Given the description of an element on the screen output the (x, y) to click on. 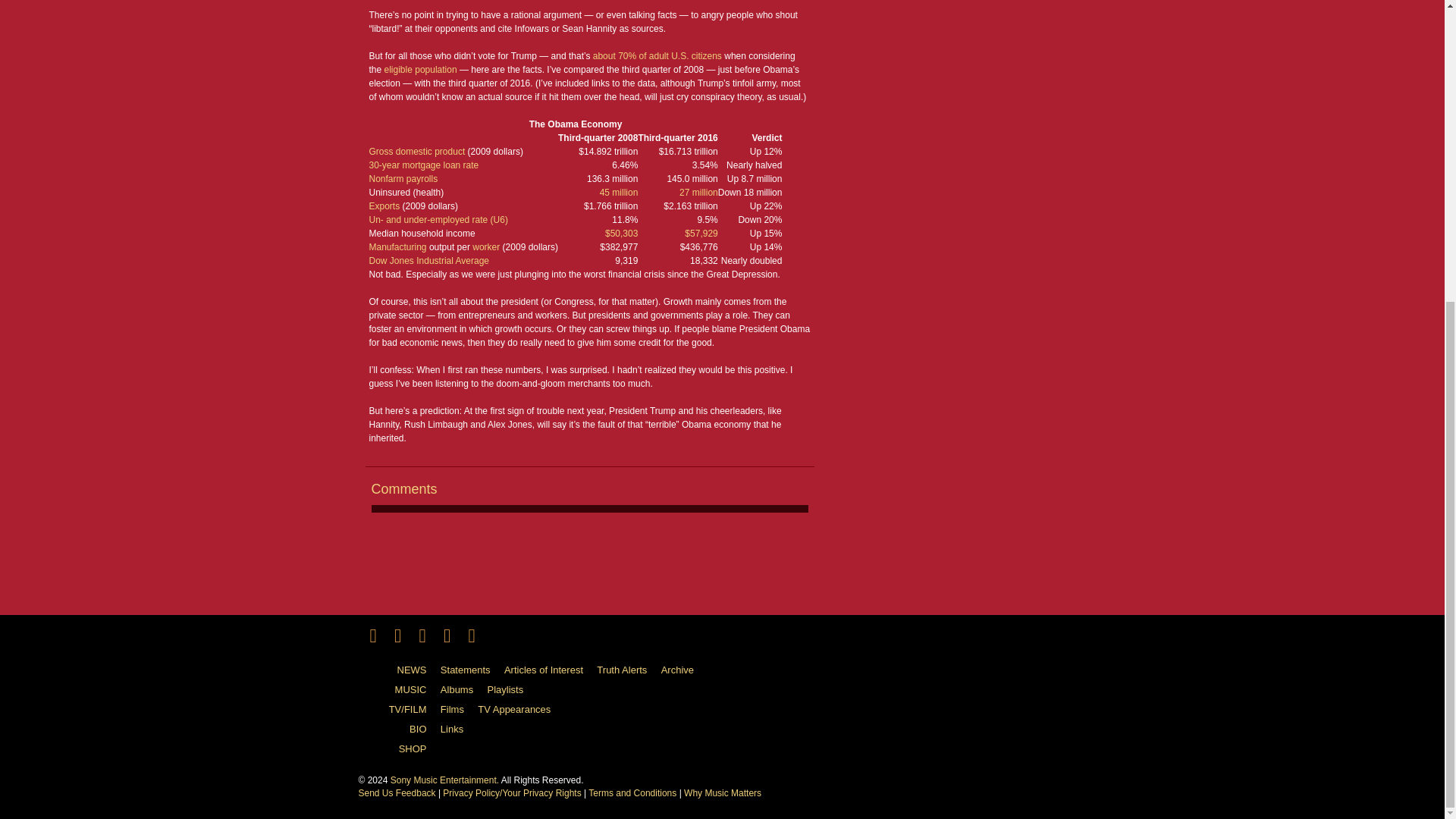
eligible population (420, 69)
45 million (619, 192)
27 million (698, 192)
30-year mortgage loan rate (423, 164)
Nonfarm payrolls (403, 178)
Dow Jones Industrial Average (428, 260)
worker (485, 246)
Manufacturing (397, 246)
Gross domestic product (416, 151)
Exports (383, 205)
